Given the description of an element on the screen output the (x, y) to click on. 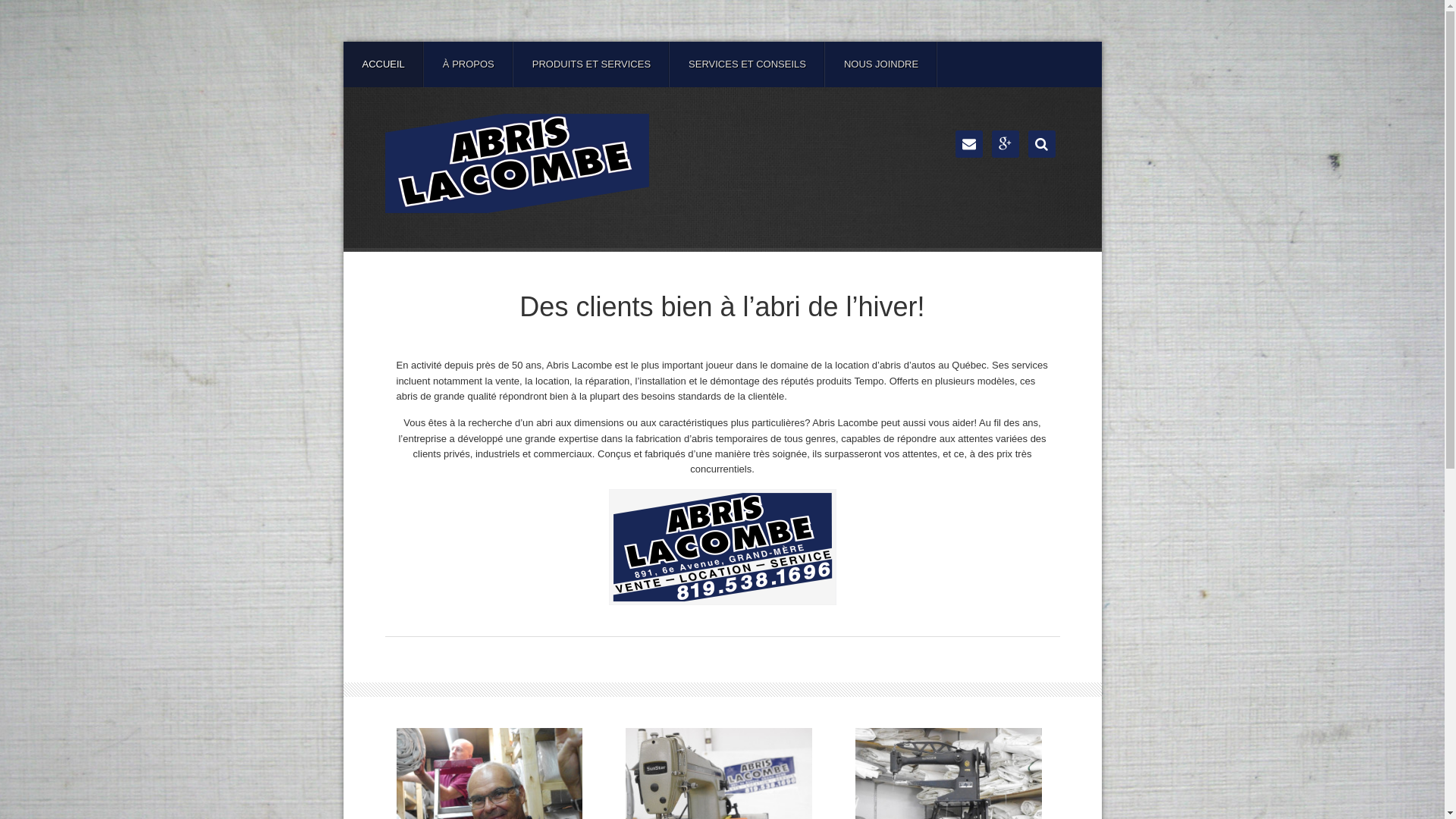
ACCUEIL Element type: text (382, 64)
NOUS JOINDRE Element type: text (881, 64)
PRODUITS ET SERVICES Element type: text (591, 64)
Abris Lacombe Element type: text (517, 163)
SERVICES ET CONSEILS Element type: text (747, 64)
